Given the description of an element on the screen output the (x, y) to click on. 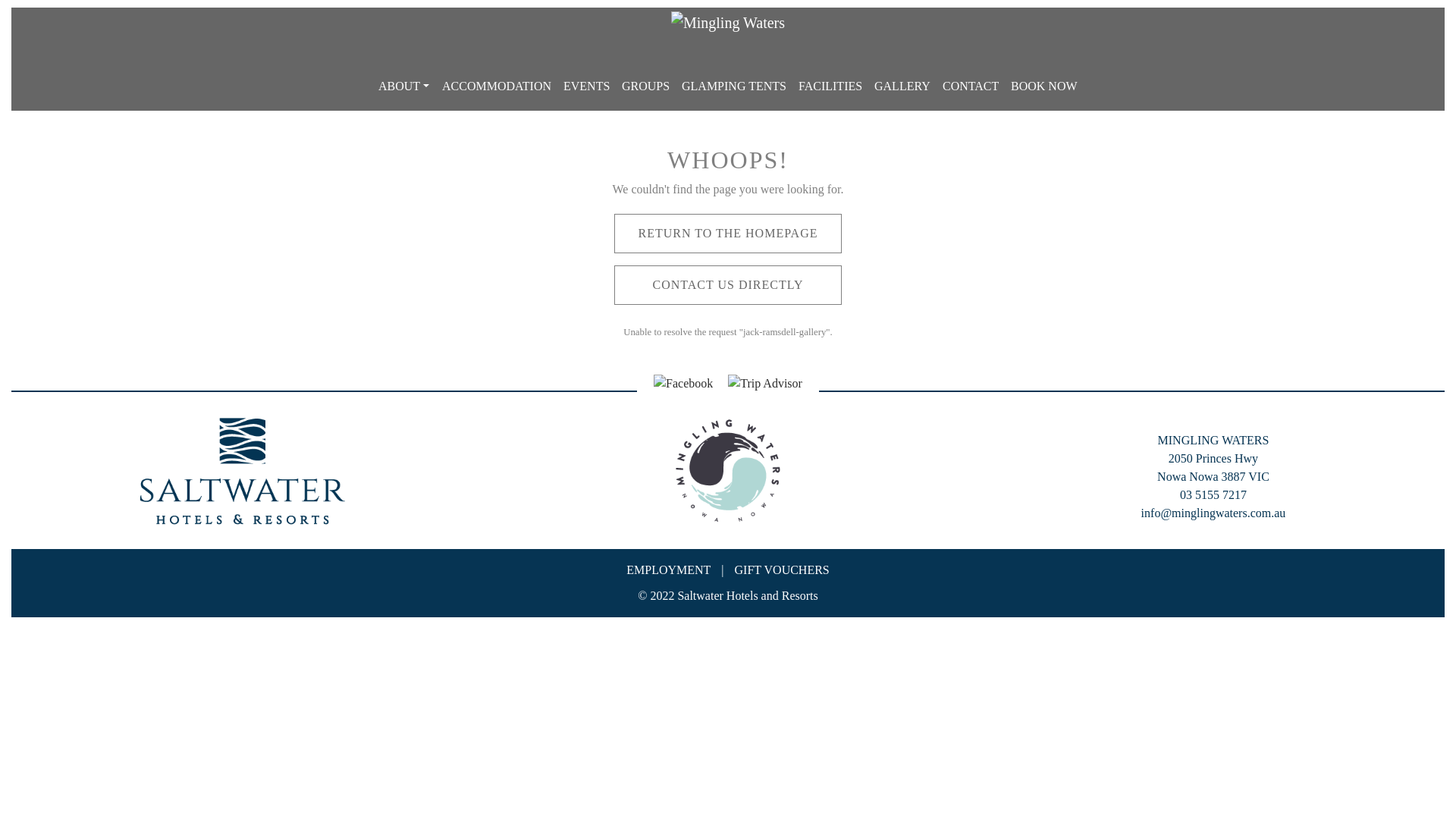
GLAMPING TENTS Element type: text (733, 86)
CONTACT US DIRECTLY Element type: text (727, 284)
ACCOMMODATION Element type: text (495, 86)
Saltwater Hotels & Resorts Element type: hover (242, 470)
GALLERY Element type: text (902, 86)
GROUPS Element type: text (645, 86)
FACILITIES Element type: text (830, 86)
GIFT VOUCHERS Element type: text (781, 569)
RETURN TO THE HOMEPAGE Element type: text (727, 233)
EVENTS Element type: text (586, 86)
BOOK NOW Element type: text (1043, 86)
EMPLOYMENT Element type: text (668, 569)
Trip Advisor Element type: hover (765, 381)
Facebook Element type: hover (682, 381)
CONTACT Element type: text (970, 86)
info@minglingwaters.com.au Element type: text (1213, 512)
ABOUT Element type: text (403, 86)
